Given the description of an element on the screen output the (x, y) to click on. 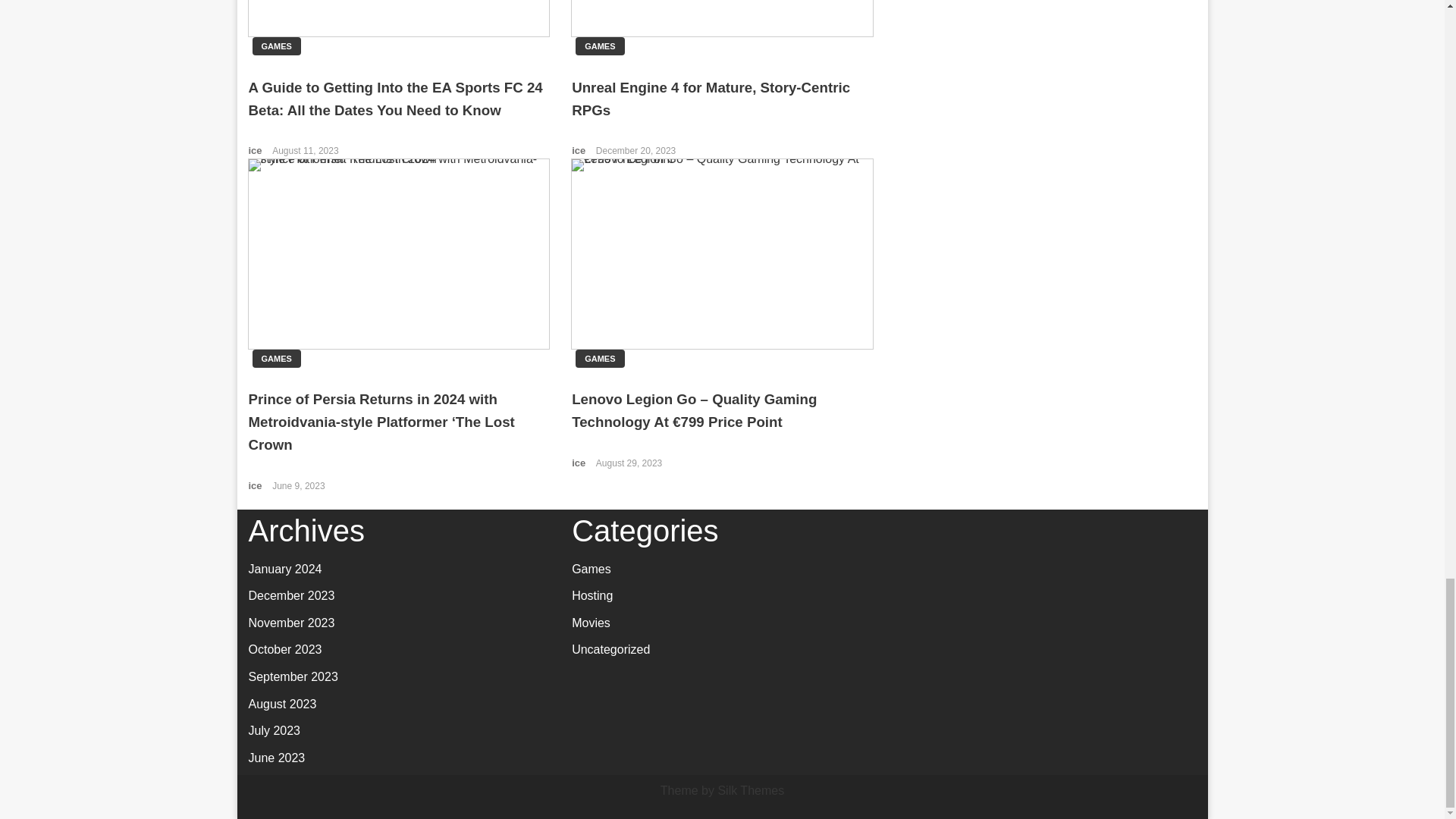
Unreal Engine 4 for Mature, Story-Centric RPGs (711, 98)
ice (580, 150)
GAMES (599, 45)
GAMES (275, 358)
ice (580, 462)
GAMES (275, 45)
GAMES (599, 358)
ice (256, 485)
ice (256, 150)
